Given the description of an element on the screen output the (x, y) to click on. 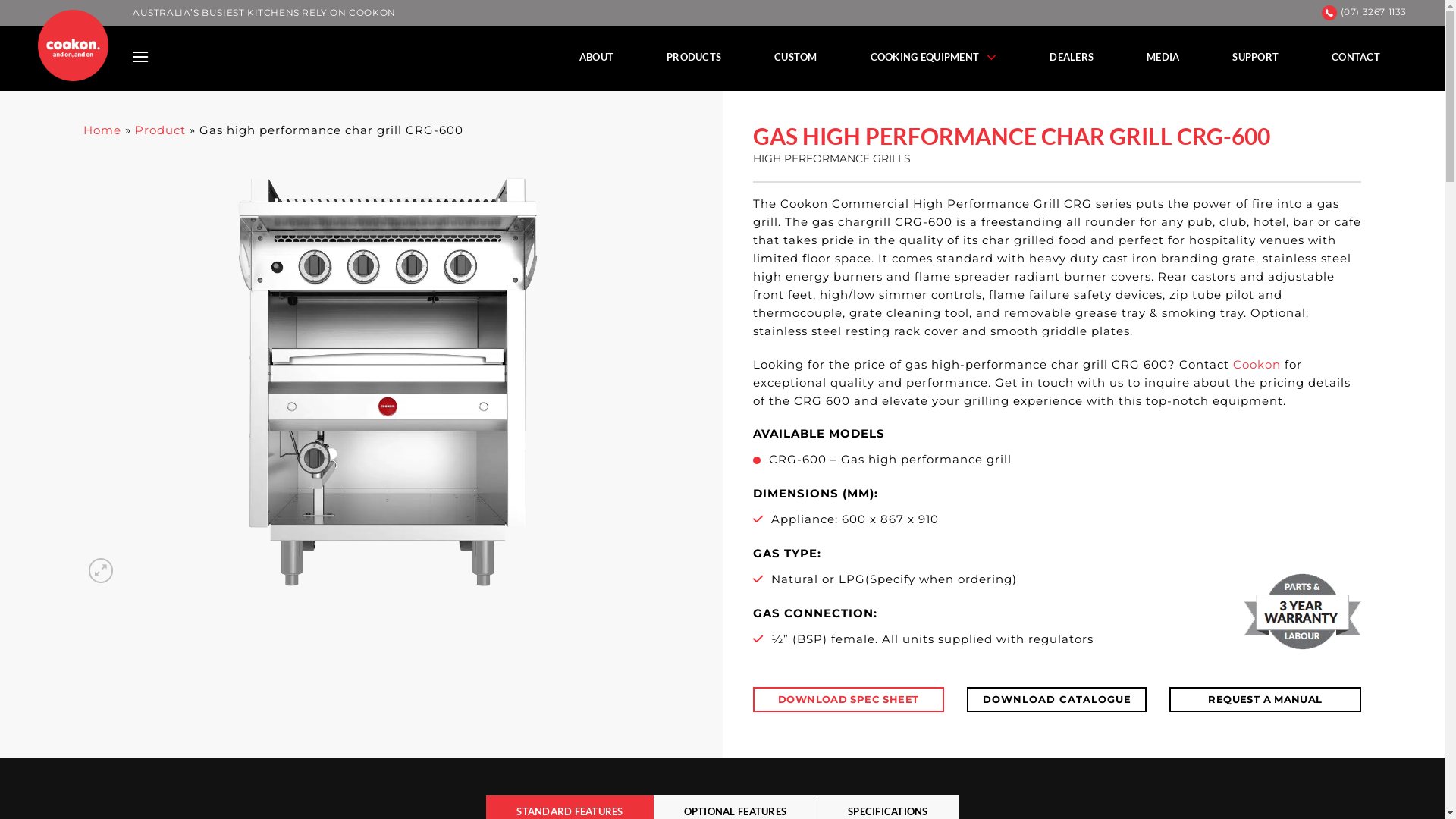
DOWNLOAD CATALOGUE Element type: text (1056, 699)
SUPPORT Element type: text (1255, 56)
ABOUT Element type: text (596, 56)
CUSTOM Element type: text (795, 56)
Home Element type: text (102, 129)
DOWNLOAD SPEC SHEET Element type: text (847, 699)
Zoom Element type: hover (100, 570)
(07) 3267 1133 Element type: text (1373, 11)
REQUEST A MANUAL Element type: text (1264, 699)
DEALERS Element type: text (1071, 56)
HighPerfGrill_CRG600_NewLOGO Element type: hover (387, 381)
CONTACT Element type: text (1355, 56)
COOKING EQUIPMENT Element type: text (933, 56)
Product Element type: text (159, 129)
MEDIA Element type: text (1162, 56)
Cookon Element type: text (1256, 363)
PRODUCTS Element type: text (693, 56)
